Given the description of an element on the screen output the (x, y) to click on. 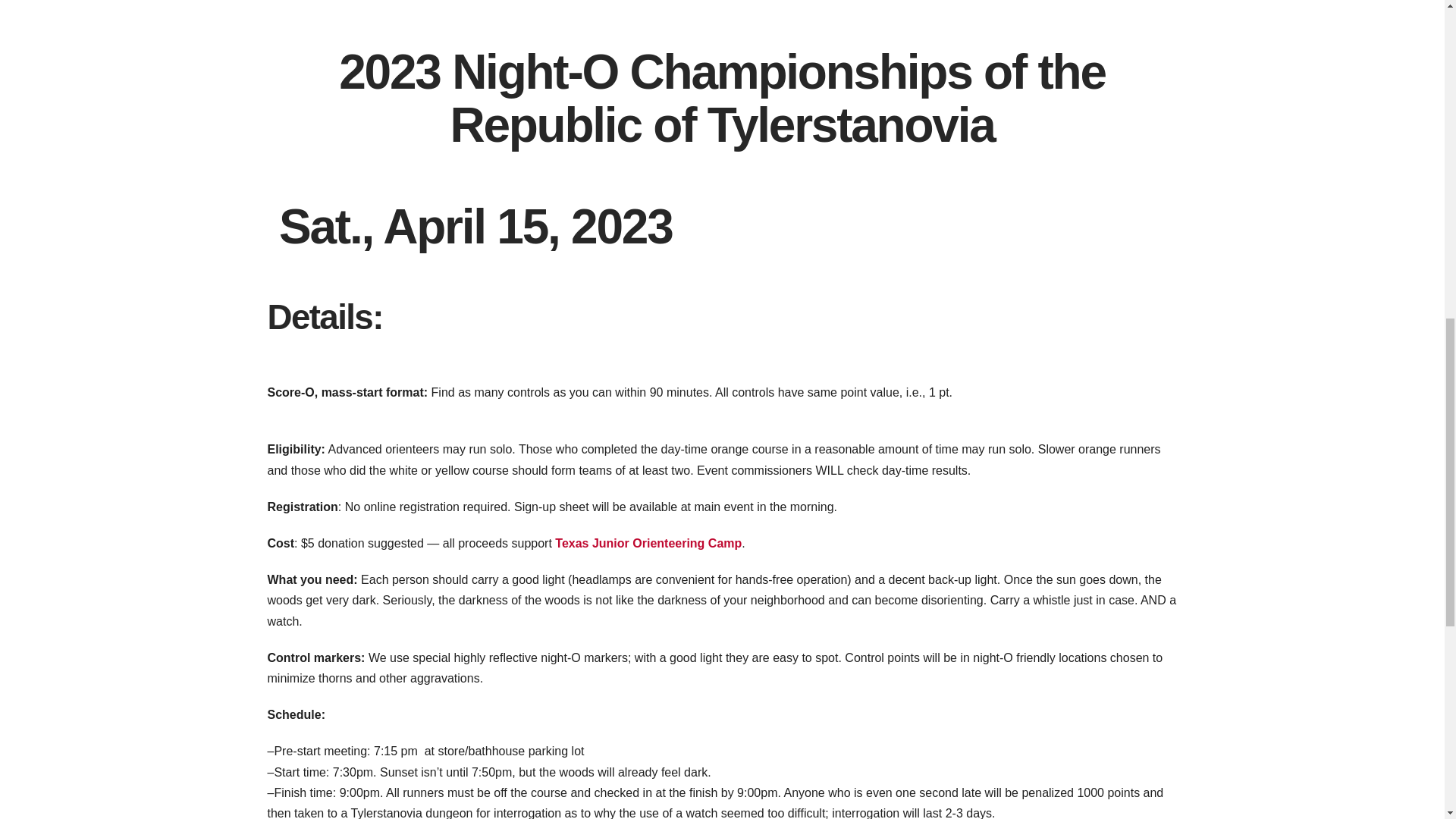
Texas Junior Orienteering Camp (647, 543)
